Given the description of an element on the screen output the (x, y) to click on. 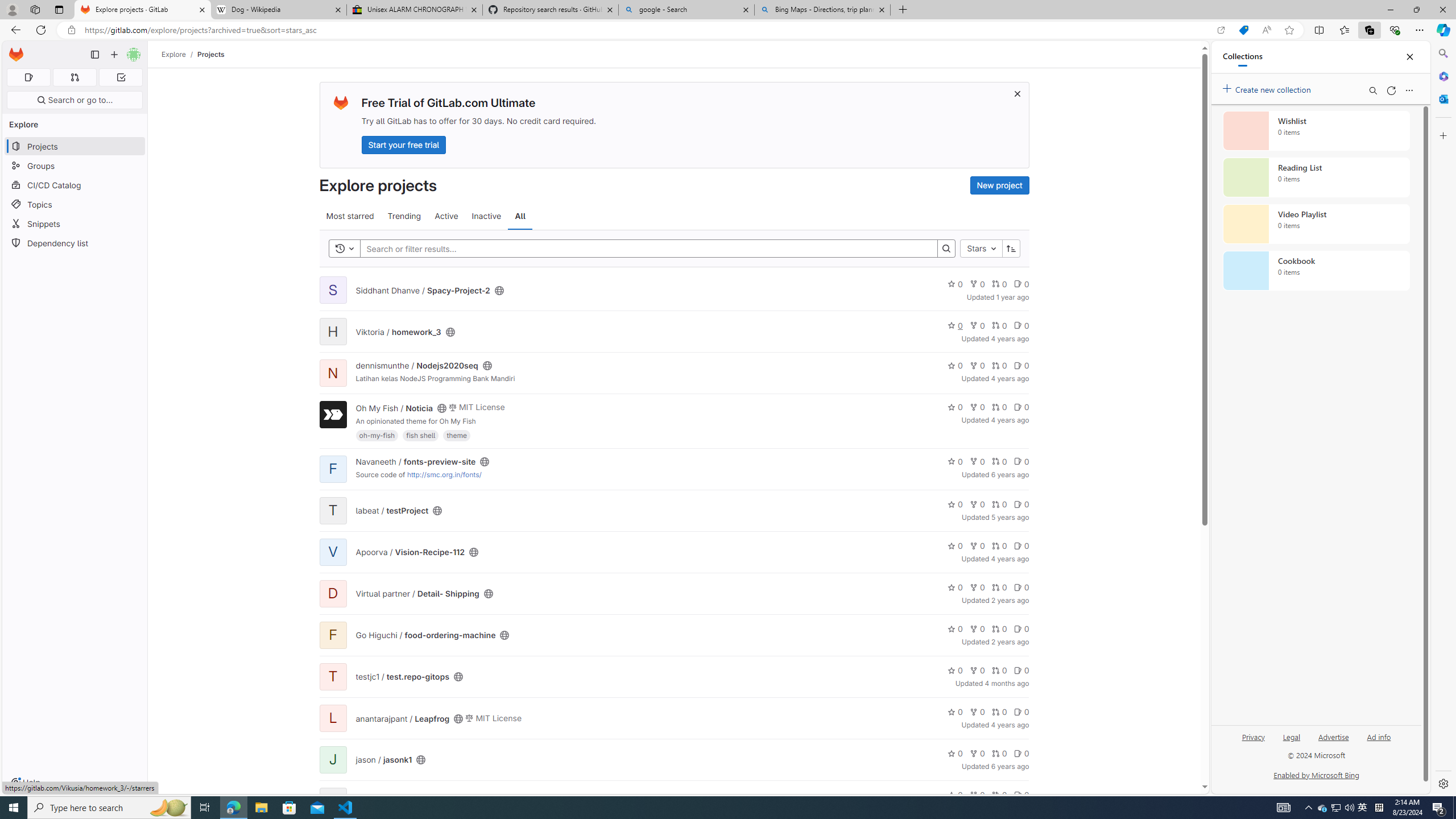
Class: s16 gl-icon gl-button-icon  (1016, 93)
fish shell (420, 434)
FGo Higuchi / food-ordering-machine0000Updated 2 years ago (673, 635)
Groups (74, 165)
Navaneeth / fonts-preview-site (415, 461)
Class: s14 gl-mr-2 (1017, 794)
Address and search bar (647, 29)
Lanantarajpant / LeapfrogMIT License0000Updated 4 years ago (673, 717)
Viktoria / homework_3 (398, 331)
